Given the description of an element on the screen output the (x, y) to click on. 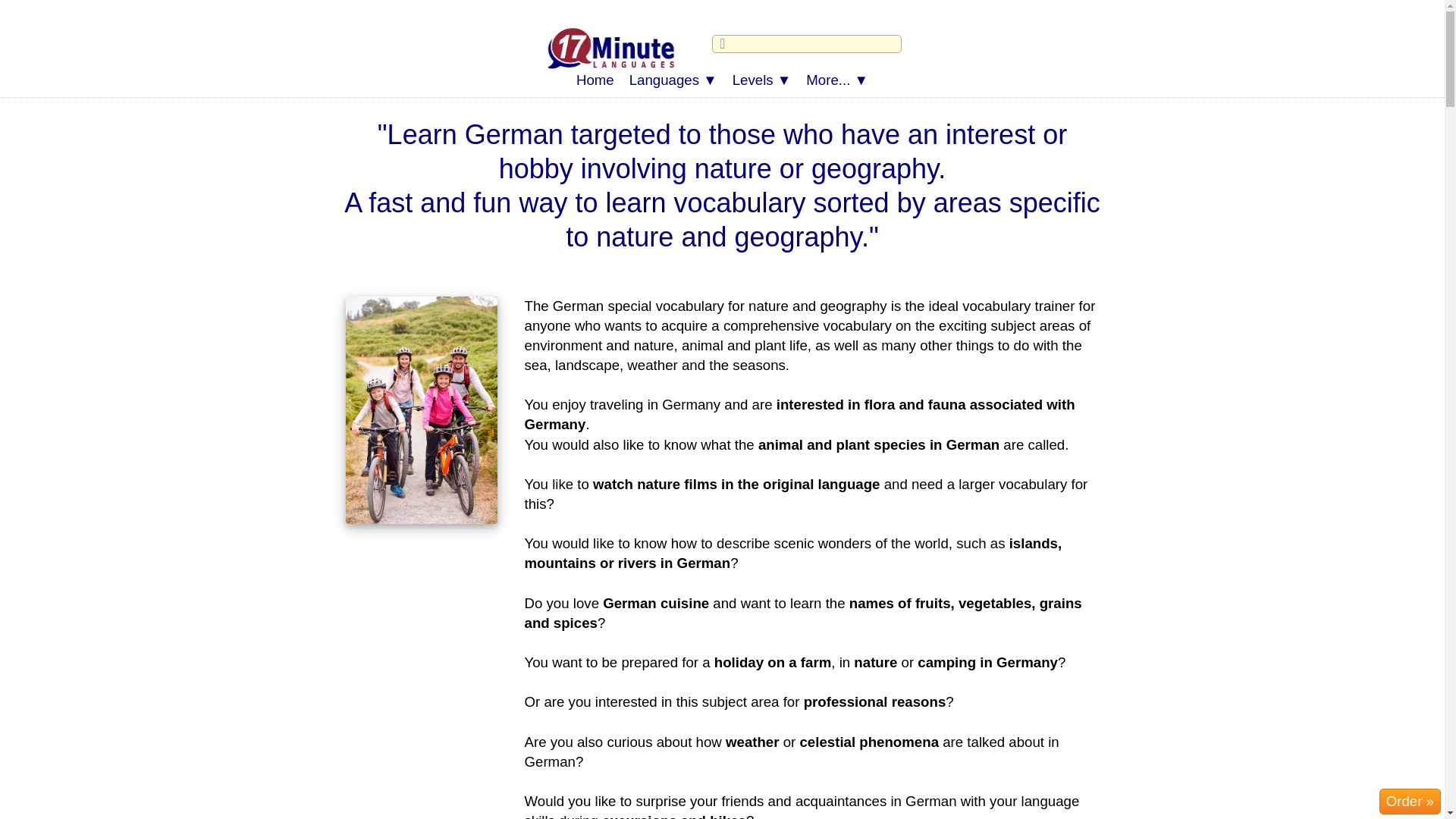
Home (595, 80)
Languages (673, 80)
